Given the description of an element on the screen output the (x, y) to click on. 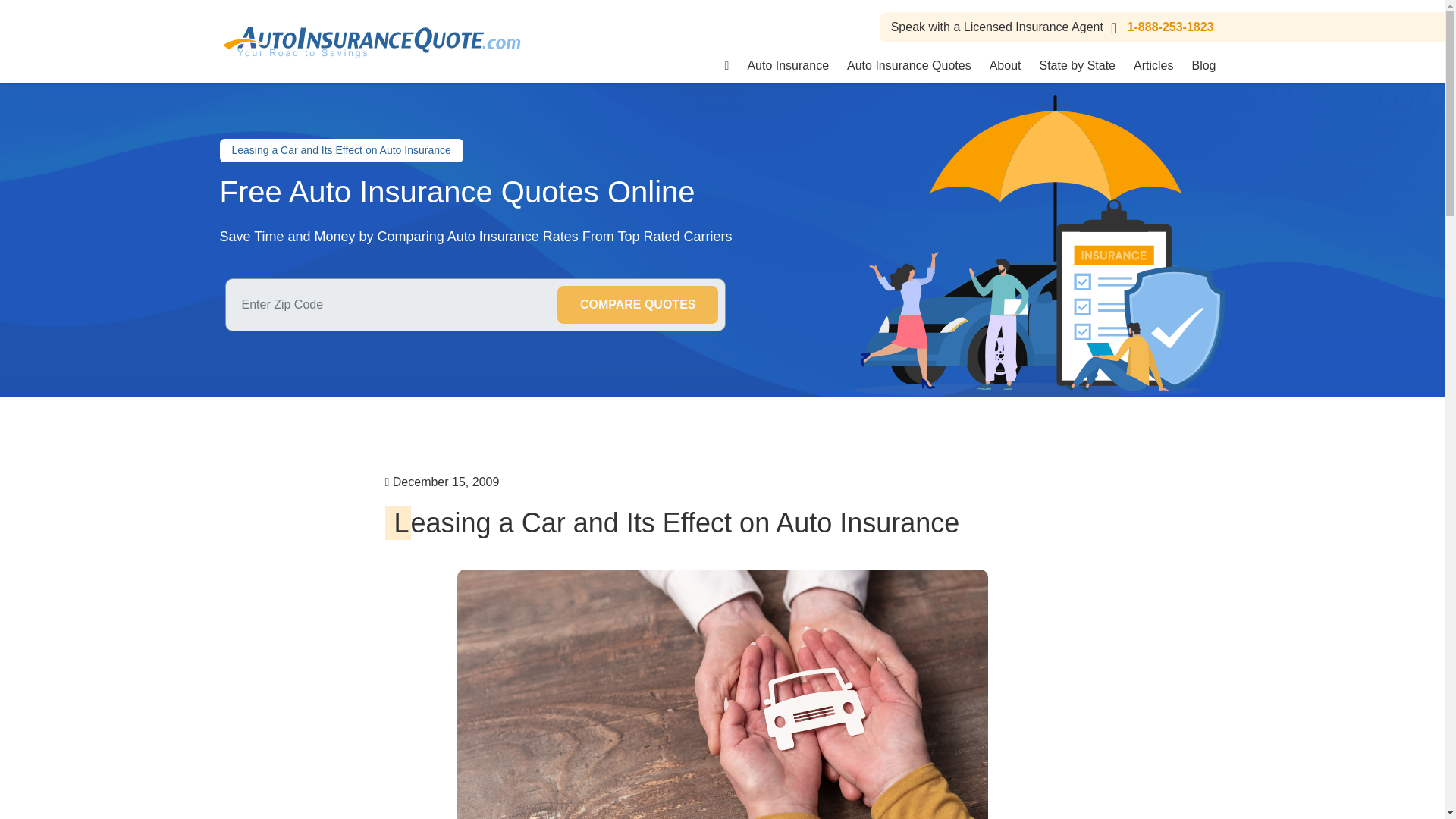
Blog (1203, 65)
Auto Insurance Quotes (908, 65)
About (1004, 65)
Auto Insurance (788, 65)
1-888-253-1823 (1158, 26)
State by State (1076, 65)
Articles (1153, 65)
COMPARE QUOTES (638, 304)
